Given the description of an element on the screen output the (x, y) to click on. 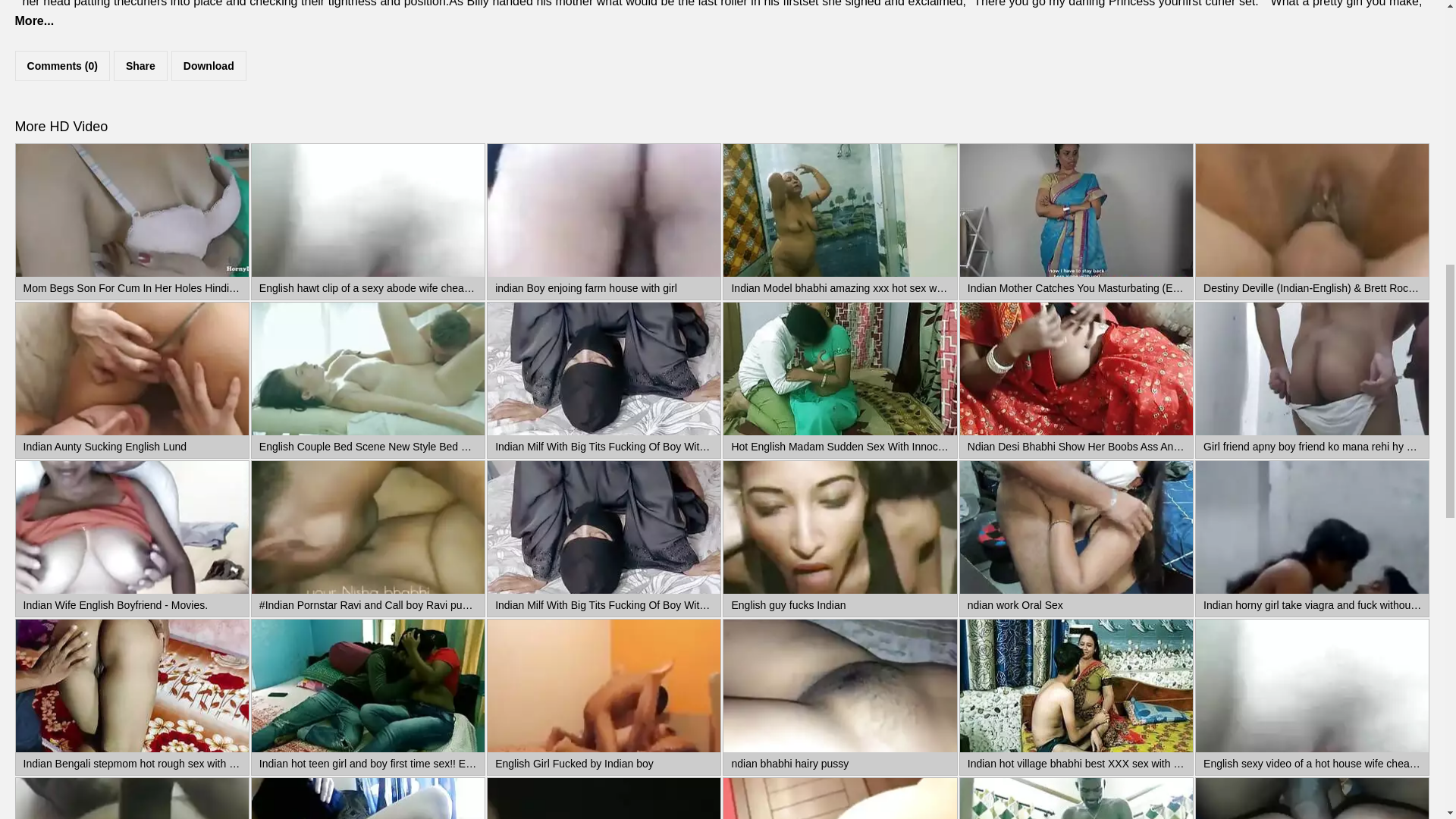
indian Boy enjoing farm house with girl (603, 210)
Indian Aunty Sucking English Lund (132, 368)
Ndian Desi Bhabhi Show Her Boobs Ass And Pussy 11 (1075, 368)
ndian work Oral Sex (1075, 527)
English guy fucks Indian (839, 527)
Share (140, 64)
Indian Wife English Boyfriend - Movies. (132, 527)
Download (208, 64)
English Couple Bed Scene New Style Bed Scene 2020 Women Fuck (367, 368)
